Given the description of an element on the screen output the (x, y) to click on. 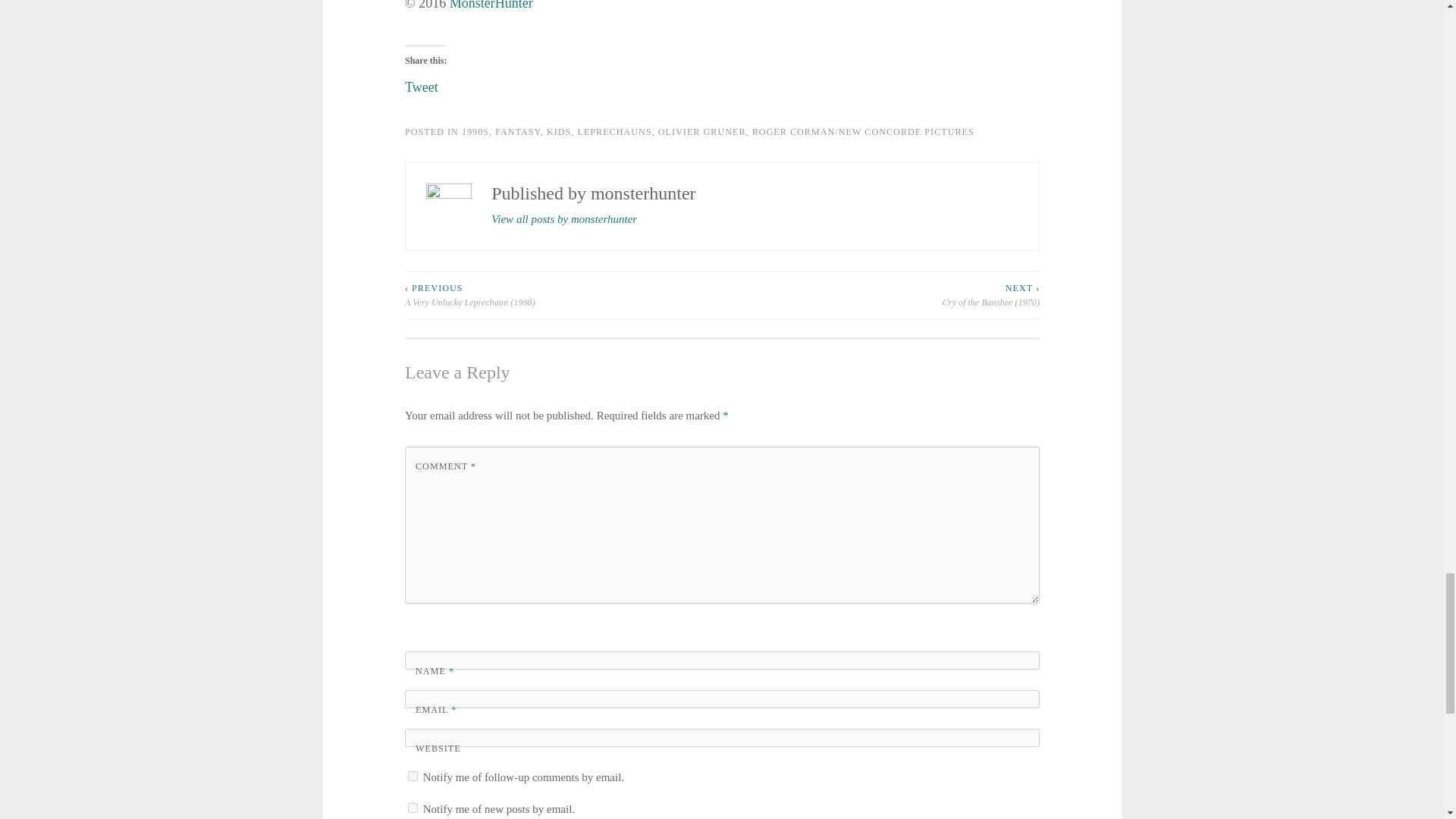
View all posts by monsterhunter (564, 219)
LEPRECHAUNS (613, 131)
KIDS (558, 131)
Tweet (421, 82)
FANTASY (517, 131)
subscribe (412, 808)
1990S (475, 131)
MonsterHunter (490, 5)
OLIVIER GRUNER (701, 131)
subscribe (412, 776)
